Given the description of an element on the screen output the (x, y) to click on. 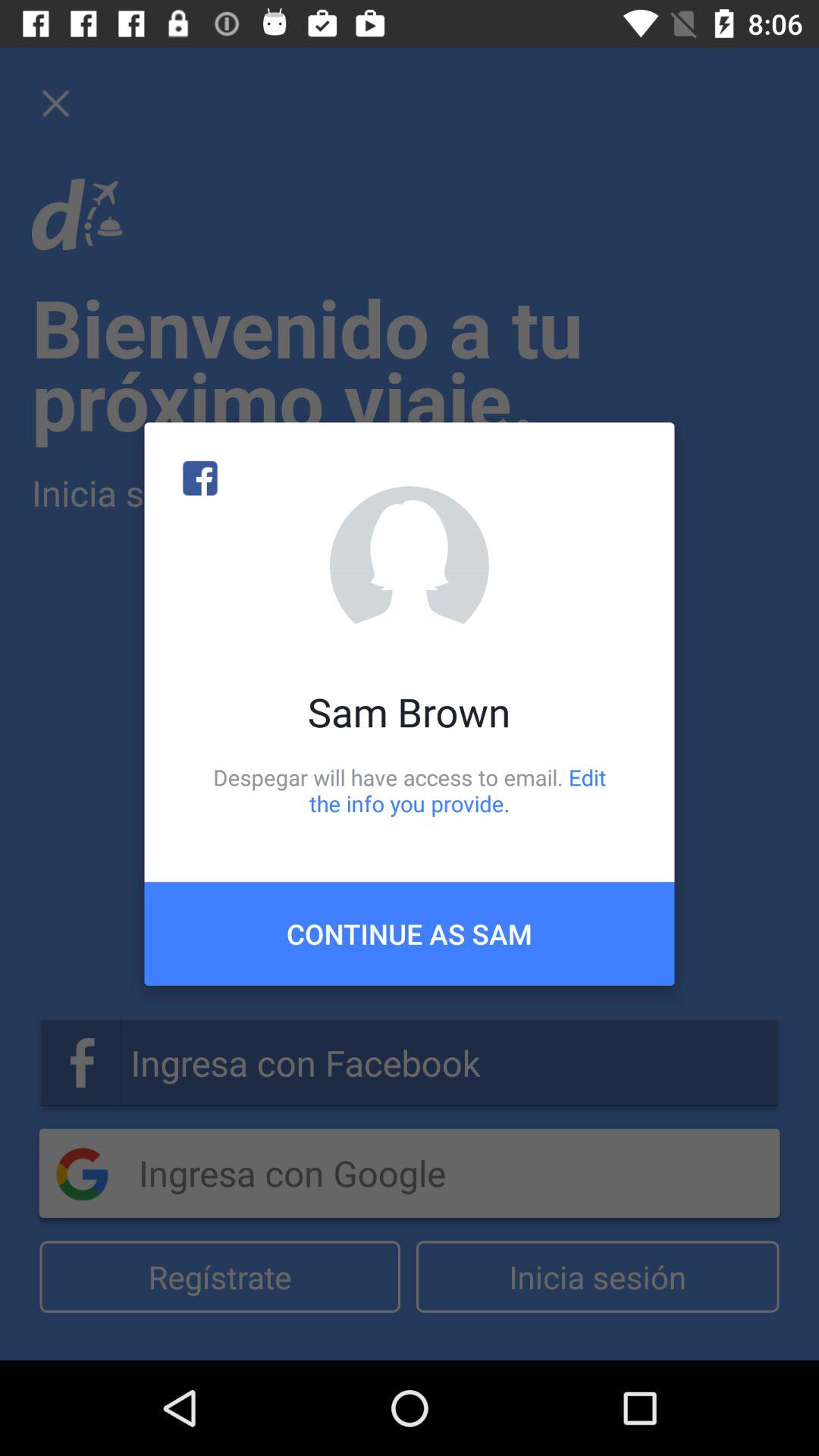
turn off the item below the despegar will have icon (409, 933)
